Given the description of an element on the screen output the (x, y) to click on. 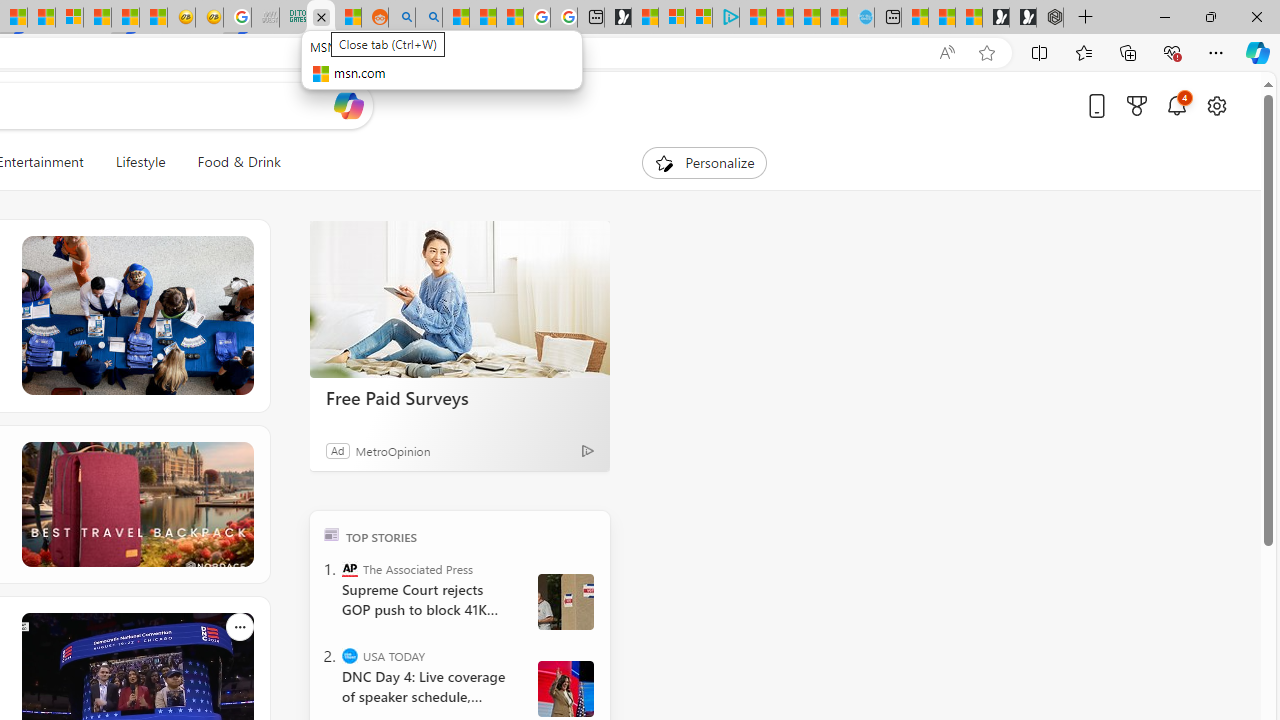
Personalize (703, 162)
14 Common Myths Debunked By Scientific Facts (41, 17)
Utah sues federal government - Search (428, 17)
Food & Drink (230, 162)
Home | Sky Blue Bikes - Sky Blue Bikes (860, 17)
